Given the description of an element on the screen output the (x, y) to click on. 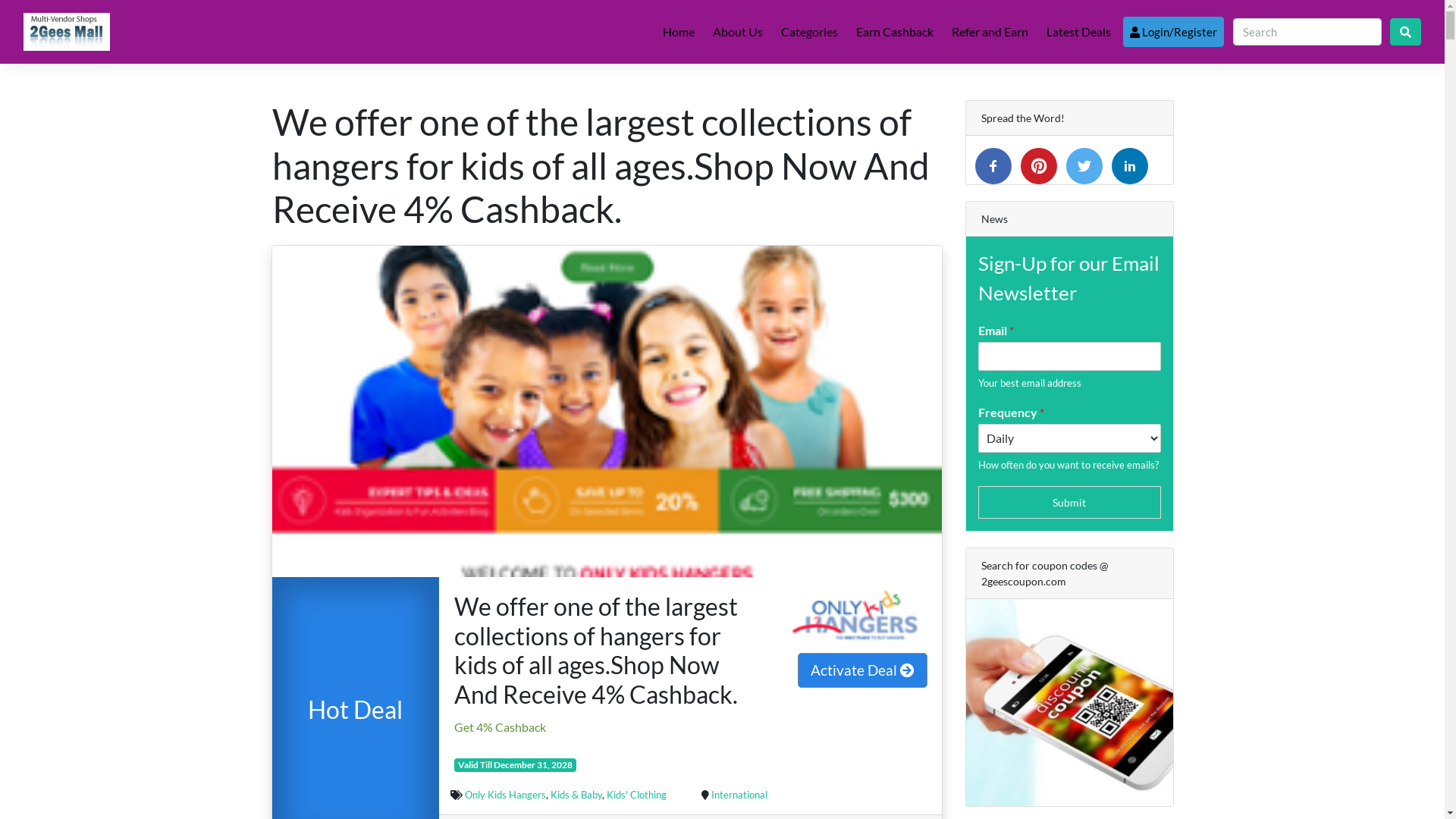
Kids & Baby Element type: text (576, 794)
Latest Deals Element type: text (1078, 31)
Earn Cashback Element type: text (894, 31)
Home Element type: text (678, 31)
Submit Element type: text (1069, 502)
International Element type: text (739, 794)
Login/Register Element type: text (1173, 31)
Activate Deal Element type: text (862, 669)
About Us Element type: text (737, 31)
Refer and Earn Element type: text (989, 31)
Kids' Clothing Element type: text (636, 794)
Categories Element type: text (809, 31)
Only Kids Hangers Element type: text (505, 794)
